Given the description of an element on the screen output the (x, y) to click on. 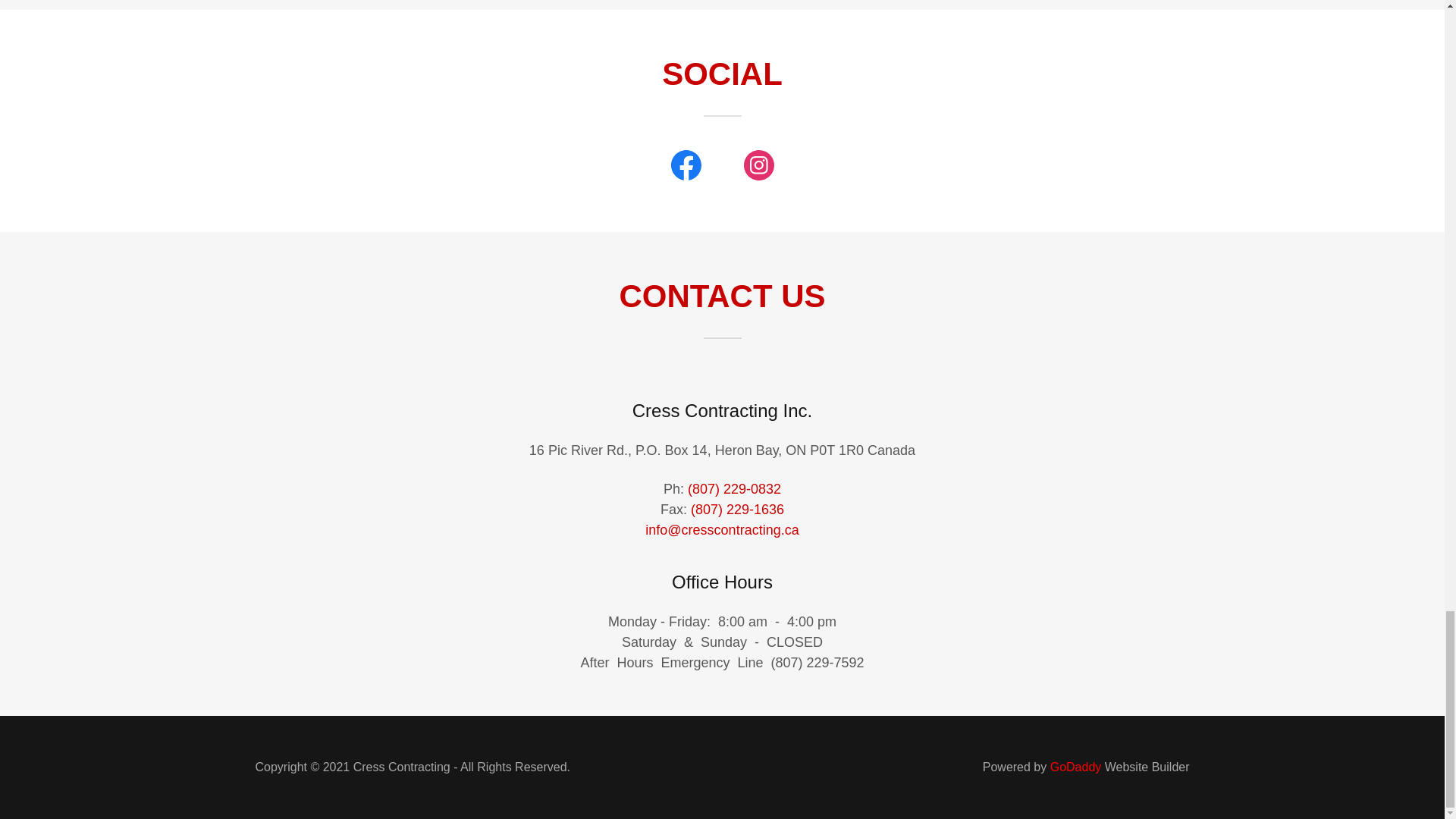
GoDaddy (1075, 766)
